Given the description of an element on the screen output the (x, y) to click on. 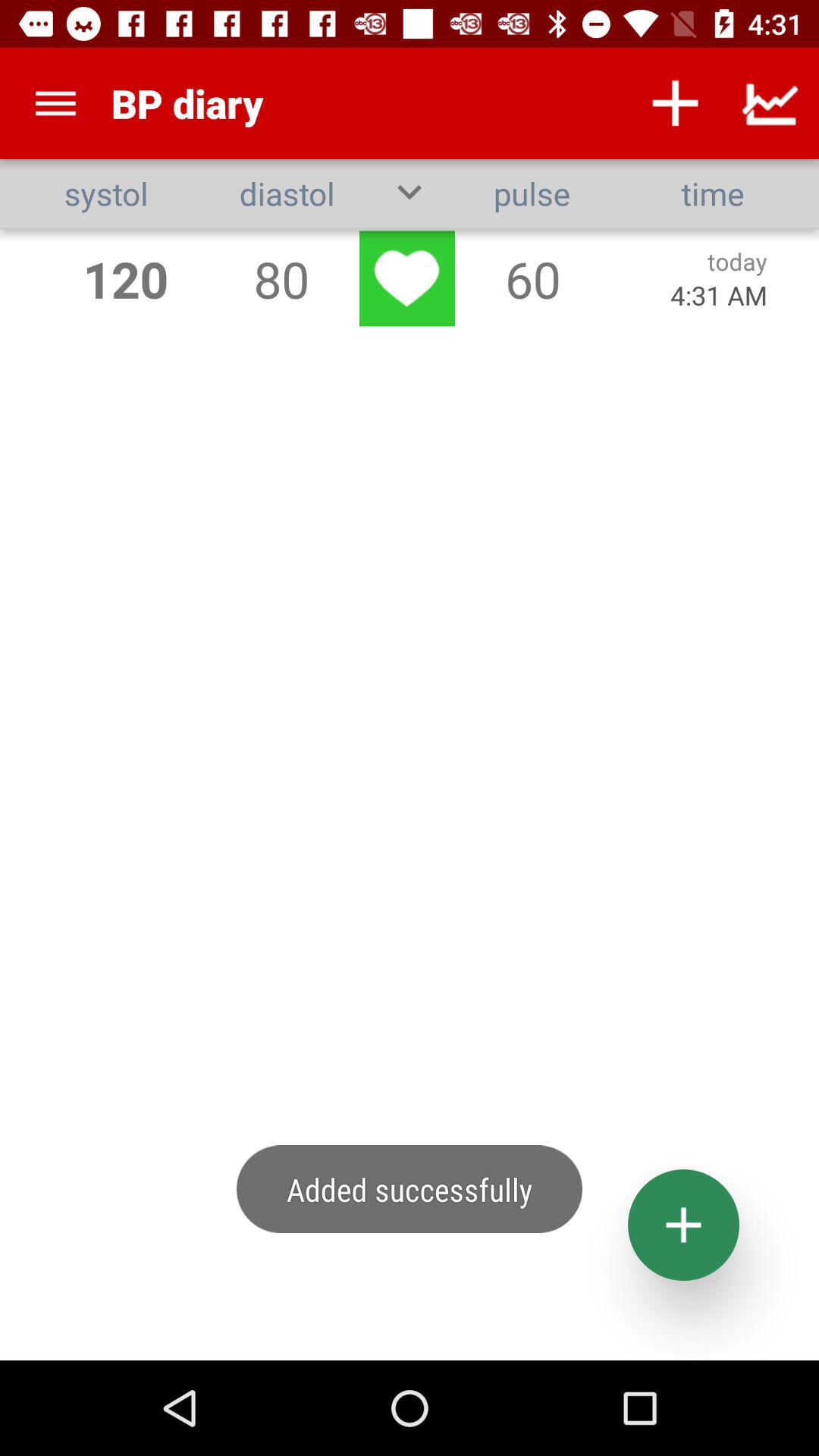
turn on item above 4:31 am (737, 261)
